Given the description of an element on the screen output the (x, y) to click on. 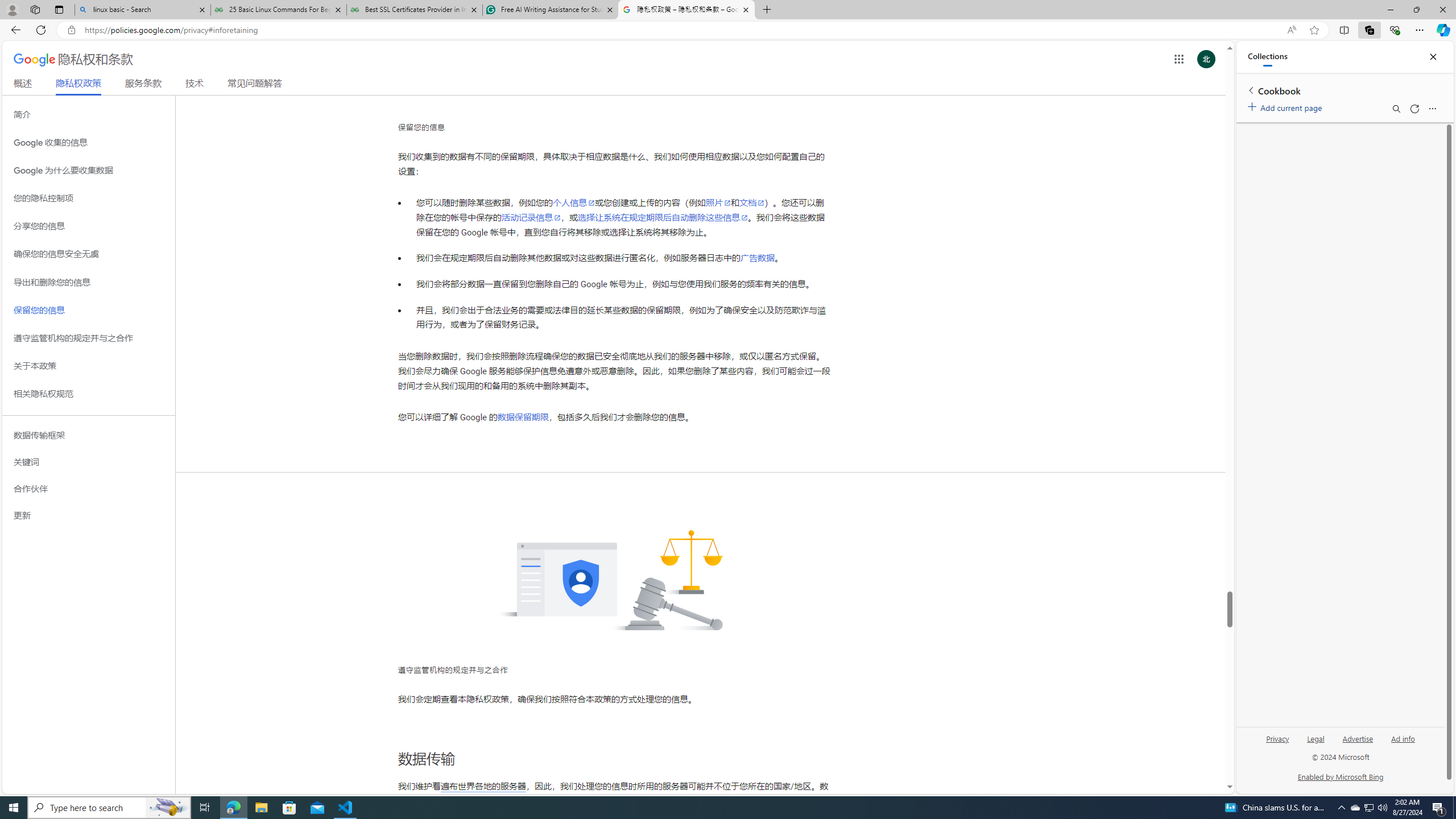
25 Basic Linux Commands For Beginners - GeeksforGeeks (277, 9)
Free AI Writing Assistance for Students | Grammarly (550, 9)
More options menu (1432, 108)
